Given the description of an element on the screen output the (x, y) to click on. 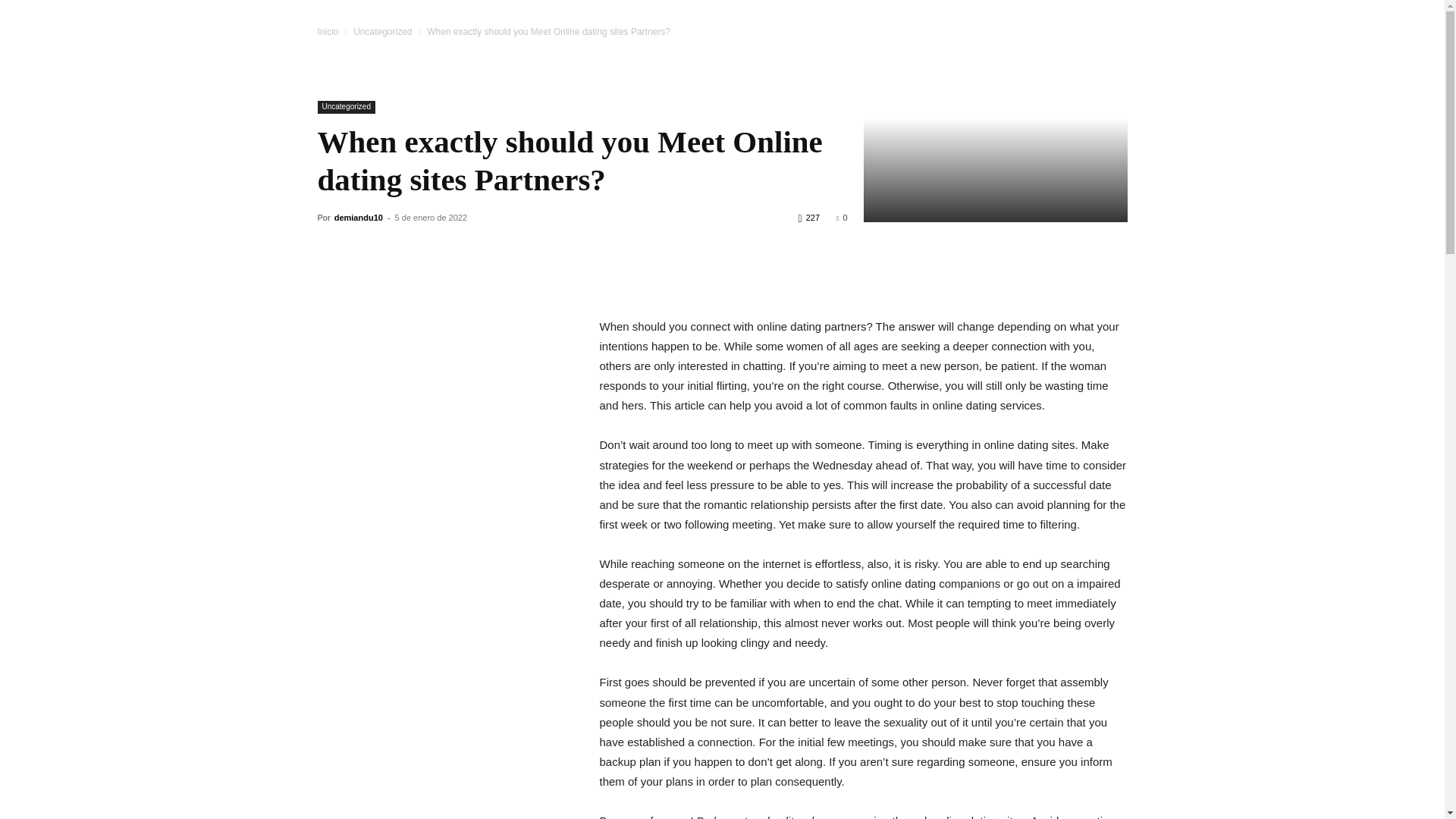
Ver todas las publicaciones en Uncategorized (382, 31)
demiandu10 (358, 216)
Uncategorized (382, 31)
0 (841, 216)
Inicio (327, 31)
Uncategorized (345, 106)
